Given the description of an element on the screen output the (x, y) to click on. 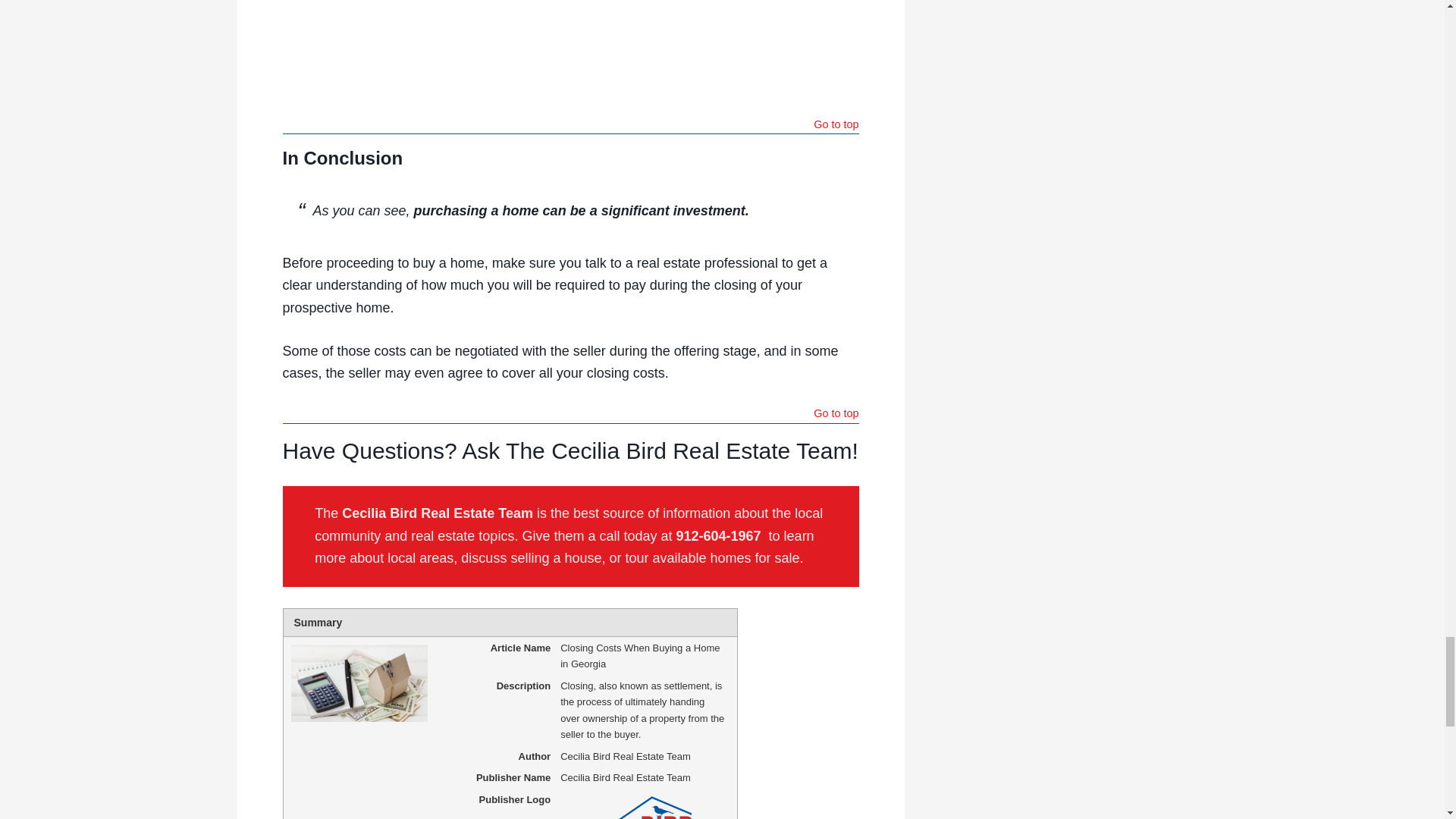
Go to top (836, 414)
Go to top (836, 125)
